Given the description of an element on the screen output the (x, y) to click on. 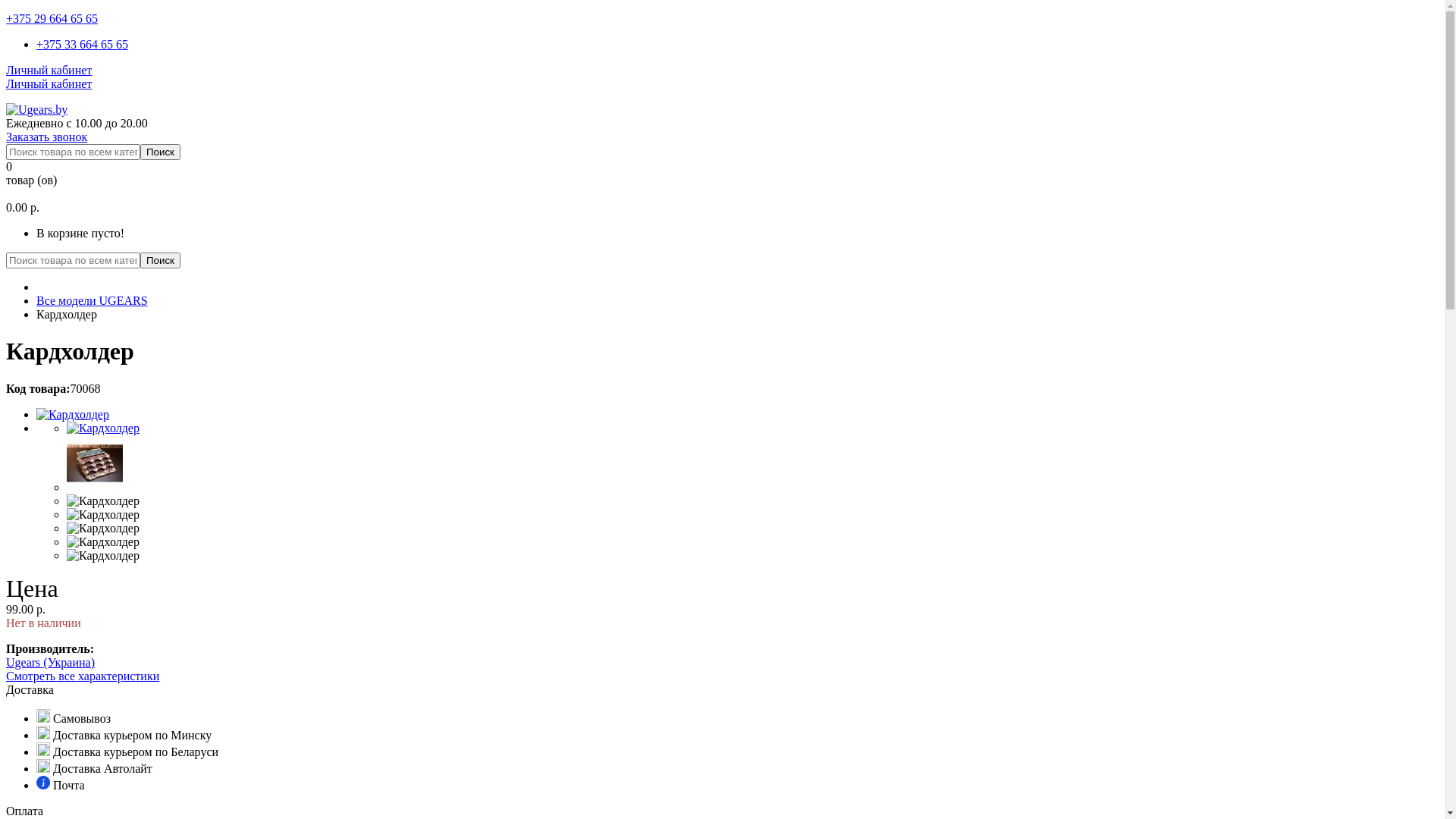
+375 29 664 65 65 Element type: text (51, 18)
+375 33 664 65 65 Element type: text (82, 43)
Ugears.by Element type: hover (36, 109)
